Given the description of an element on the screen output the (x, y) to click on. 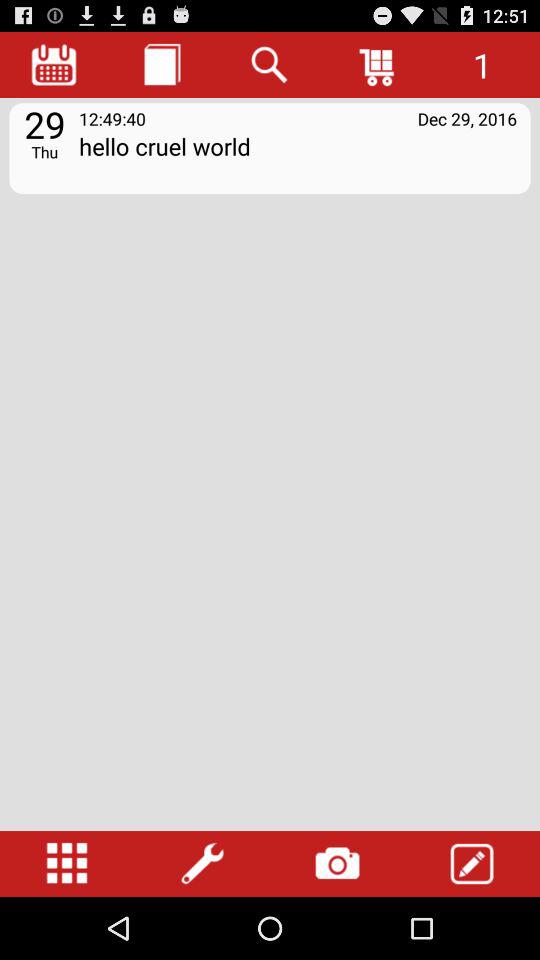
open calendar (53, 64)
